Given the description of an element on the screen output the (x, y) to click on. 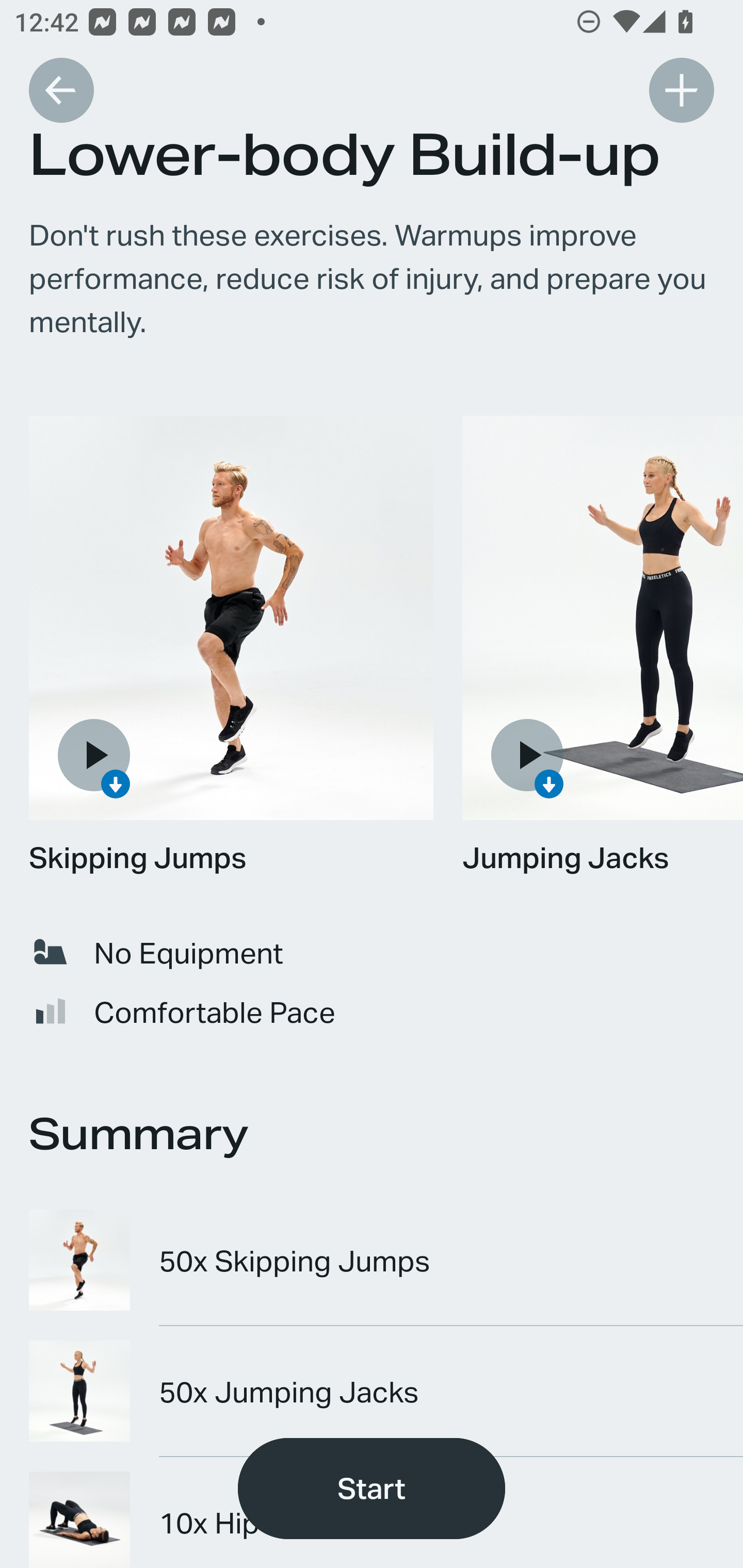
Go back (60, 90)
Log (681, 90)
Start (371, 1488)
